Given the description of an element on the screen output the (x, y) to click on. 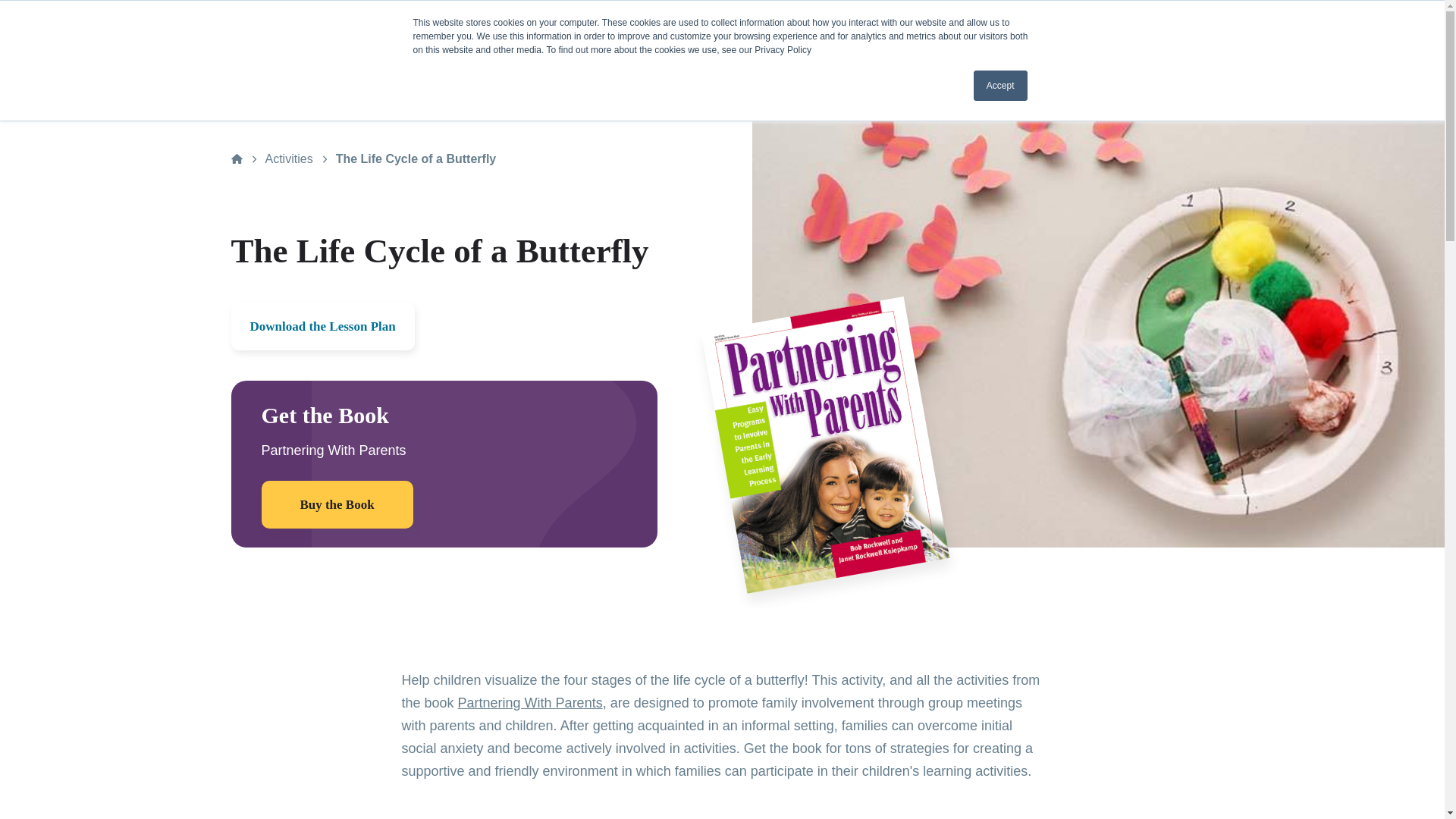
YouTube video player (597, 804)
Buy the Book (336, 504)
Gryphon House (305, 60)
Download the Lesson Plan (321, 326)
Accept (1000, 85)
